Given the description of an element on the screen output the (x, y) to click on. 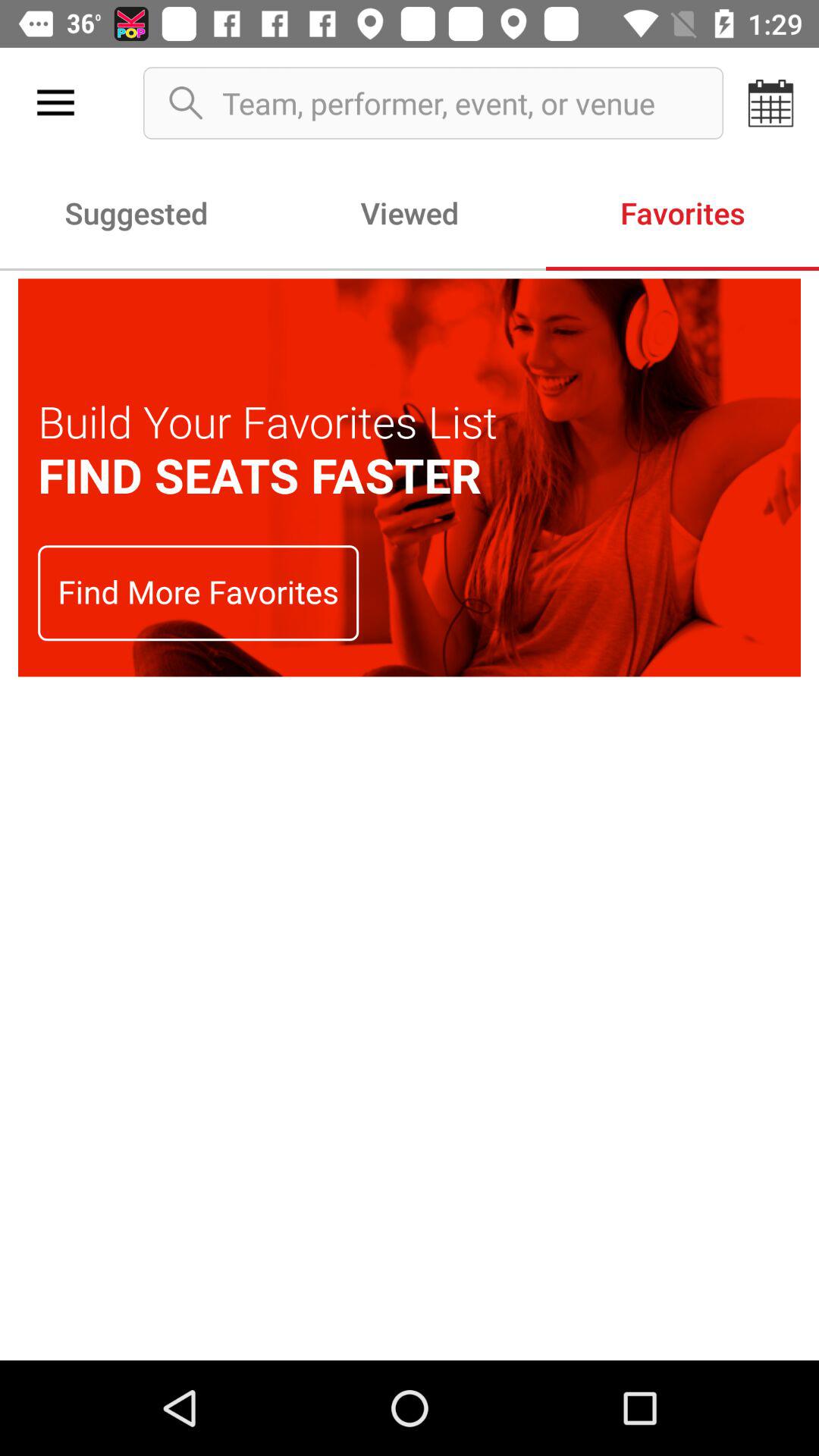
launch the icon next to viewed icon (136, 212)
